Given the description of an element on the screen output the (x, y) to click on. 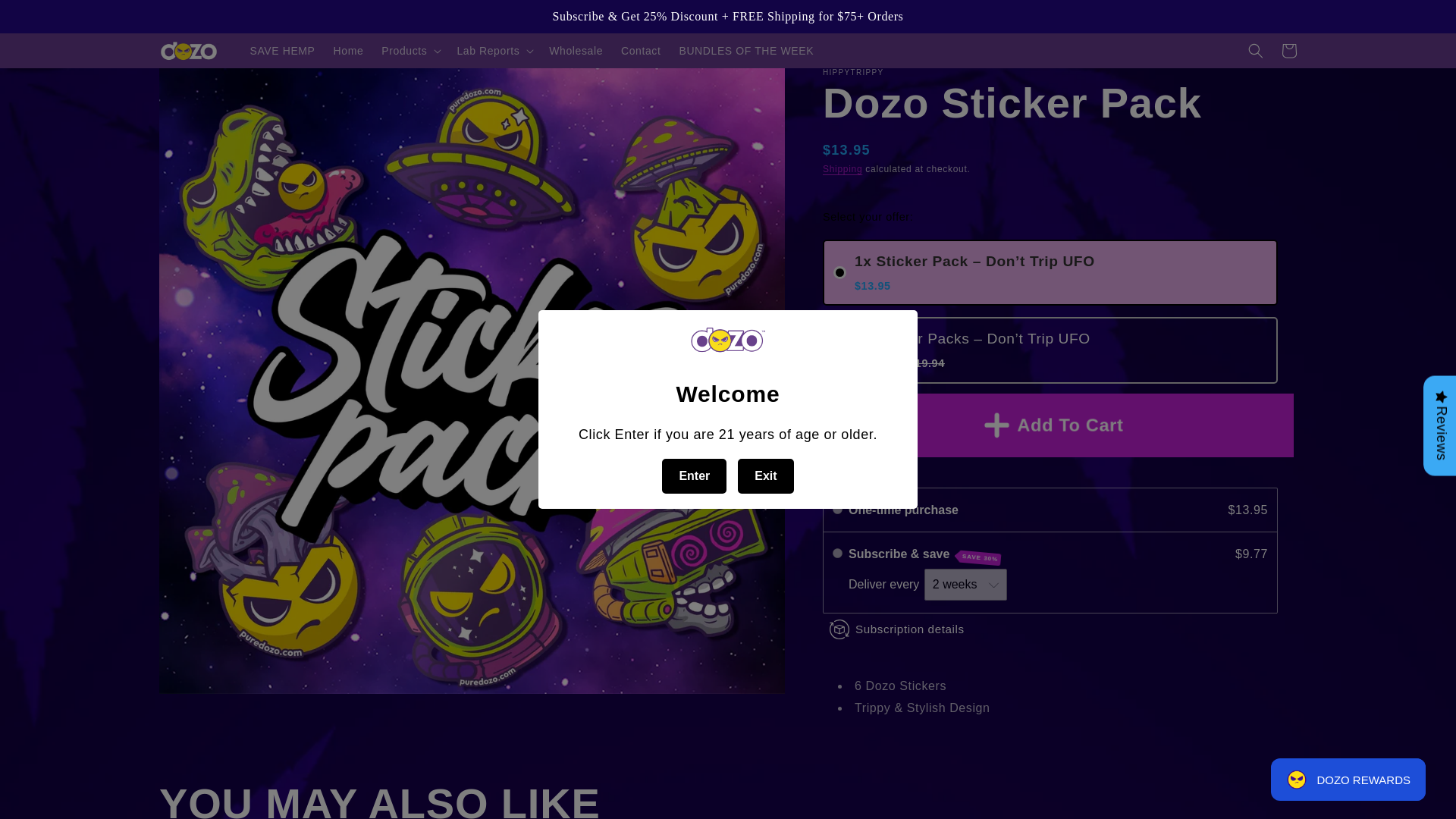
Skip to content (45, 16)
0 (837, 552)
Home (348, 50)
SAVE HEMP (282, 50)
